Given the description of an element on the screen output the (x, y) to click on. 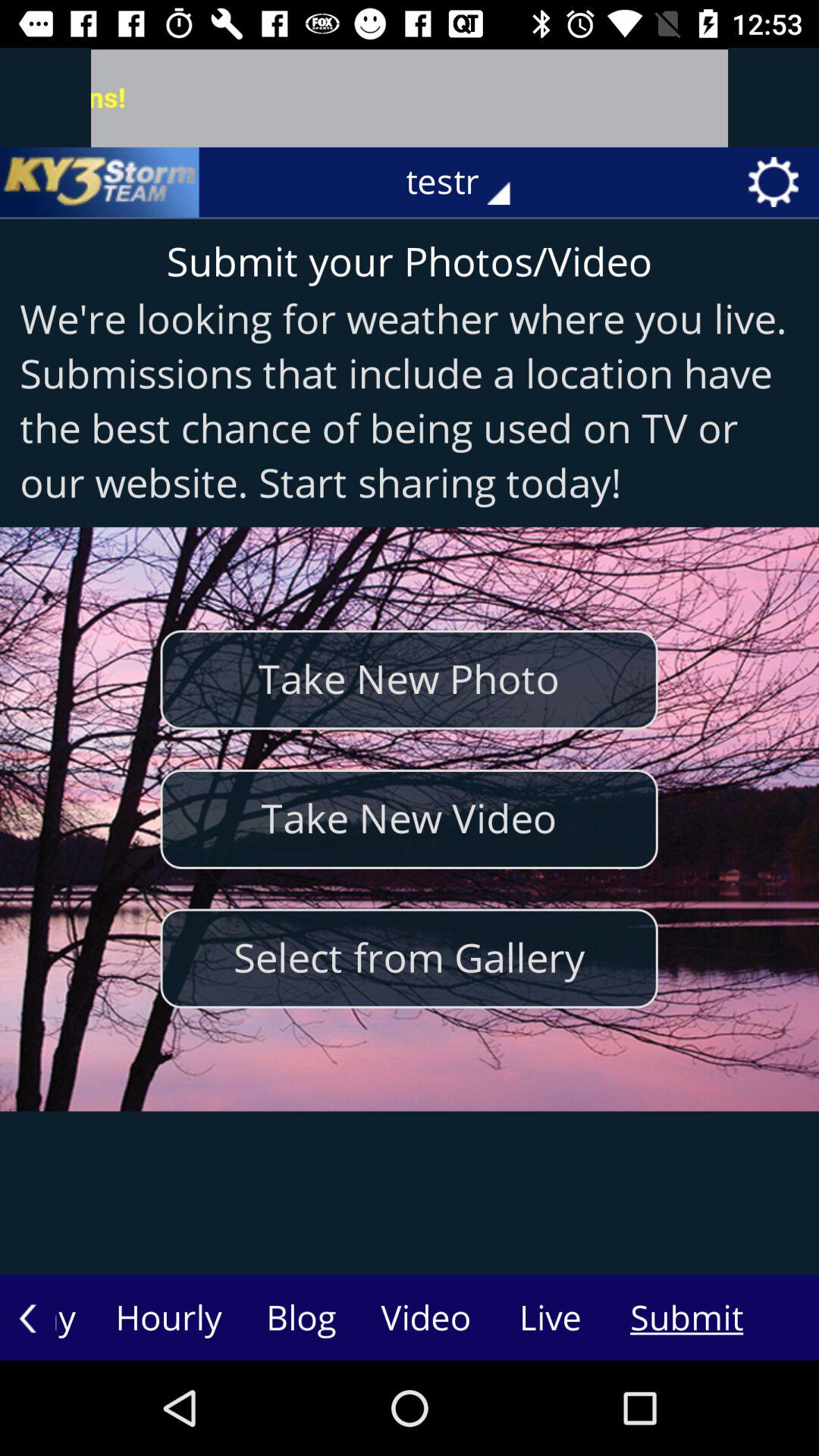
select the icon below take new video (409, 958)
